Given the description of an element on the screen output the (x, y) to click on. 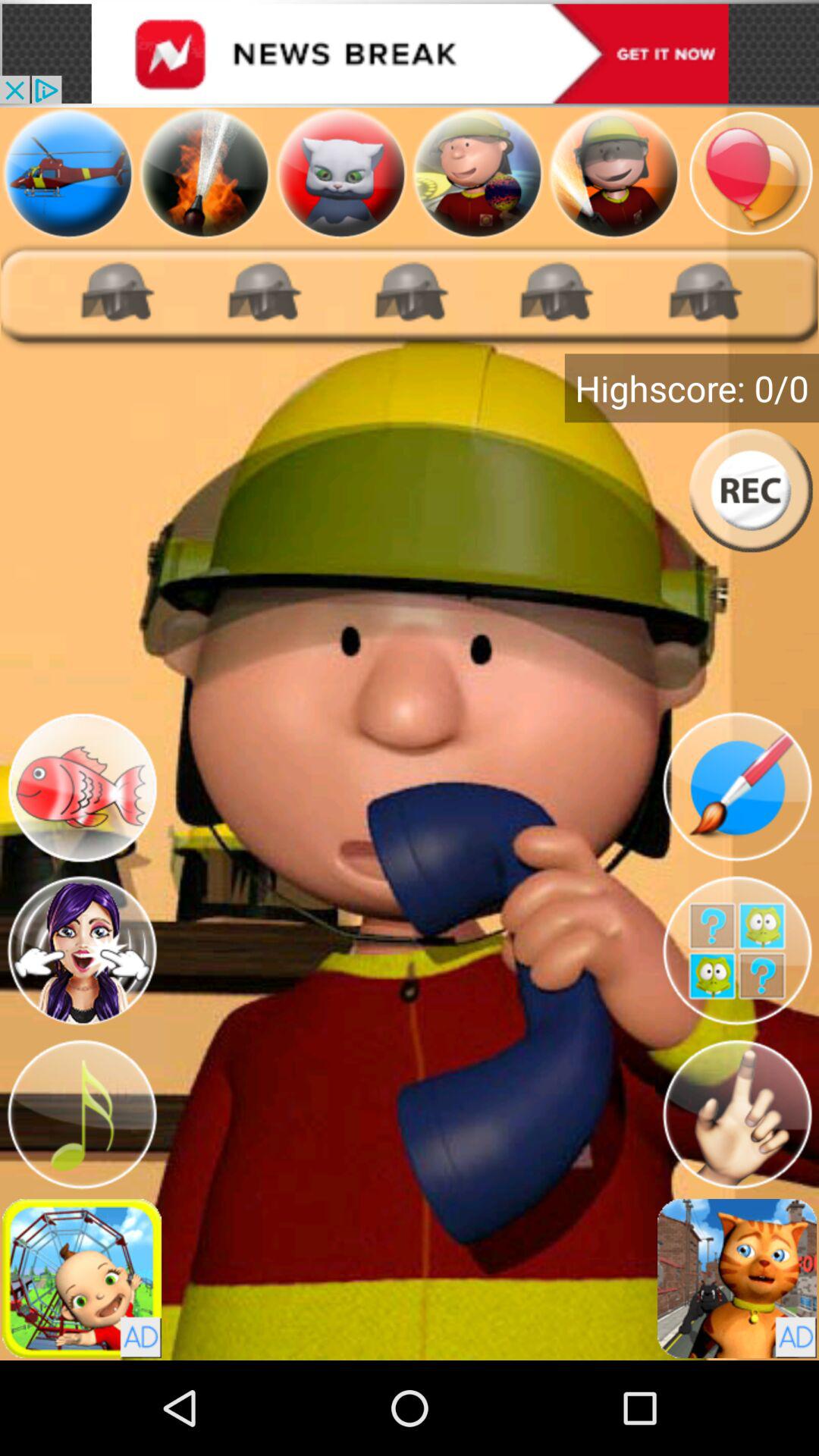
touch character 's face (81, 950)
